Given the description of an element on the screen output the (x, y) to click on. 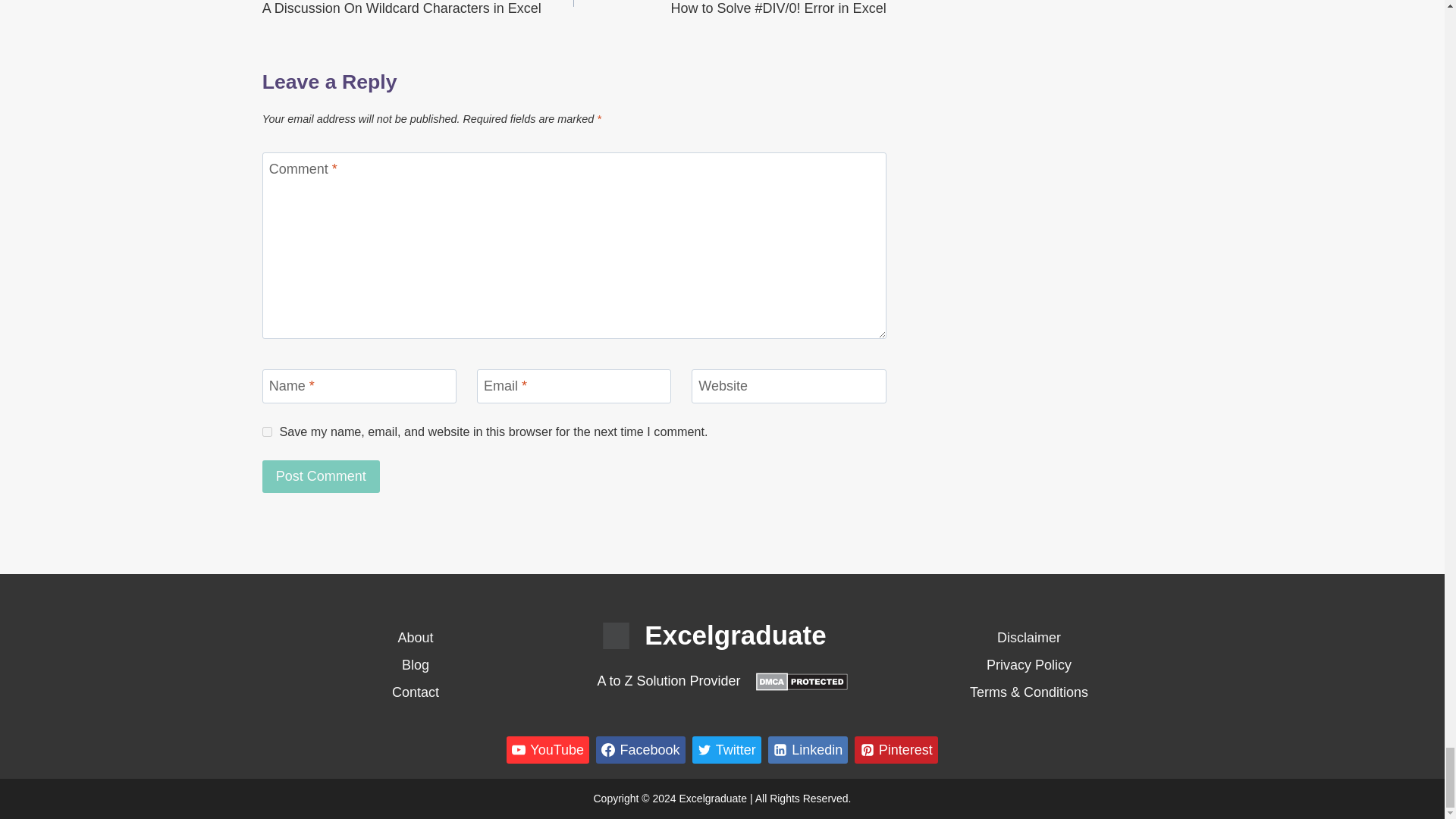
DMCA.com Protection Status (801, 681)
yes (267, 431)
Post Comment (321, 476)
